Given the description of an element on the screen output the (x, y) to click on. 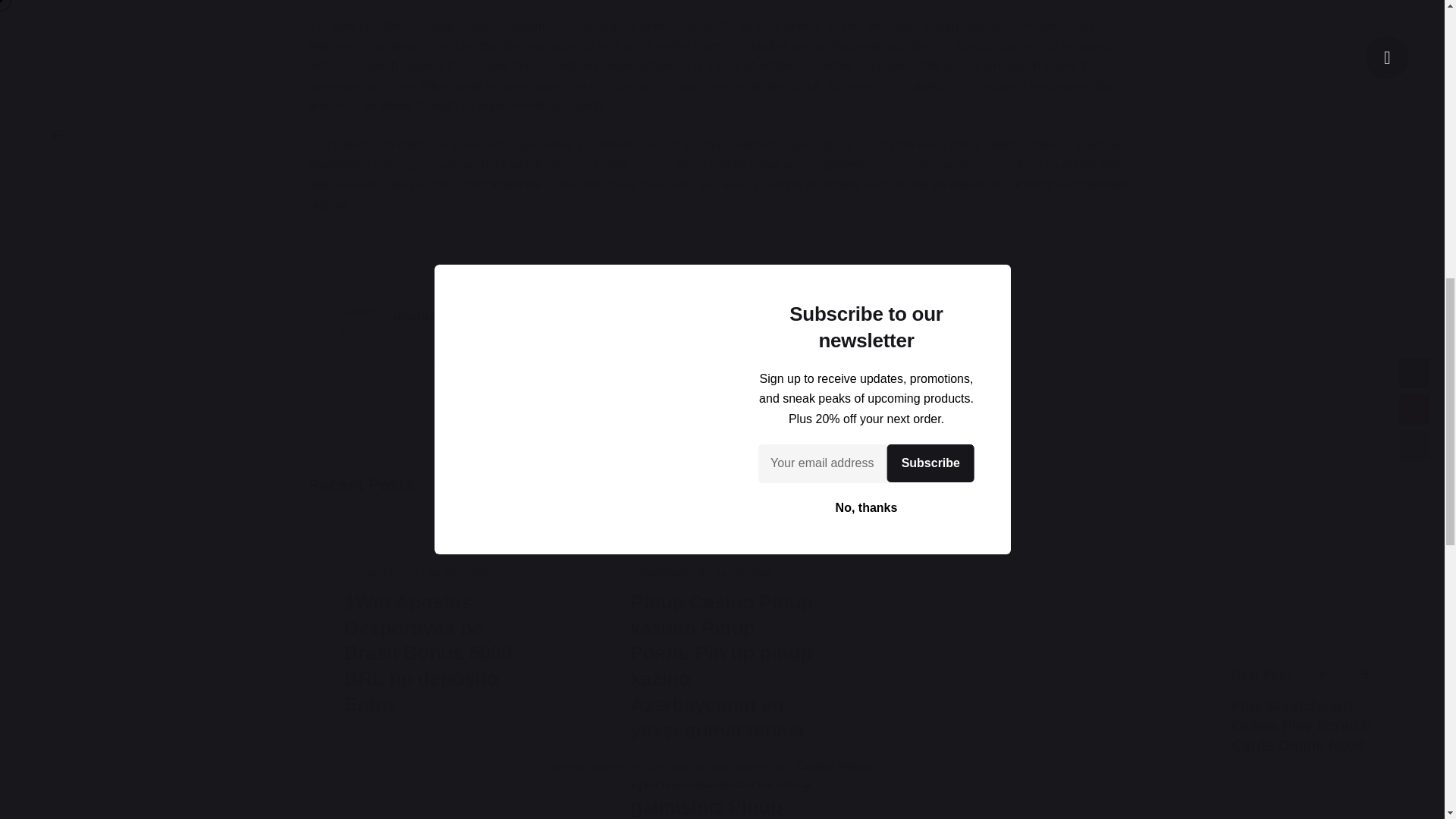
Uncategorized (380, 571)
online punctuation check (440, 164)
Uncategorized (666, 571)
online grammar checker (722, 45)
